Given the description of an element on the screen output the (x, y) to click on. 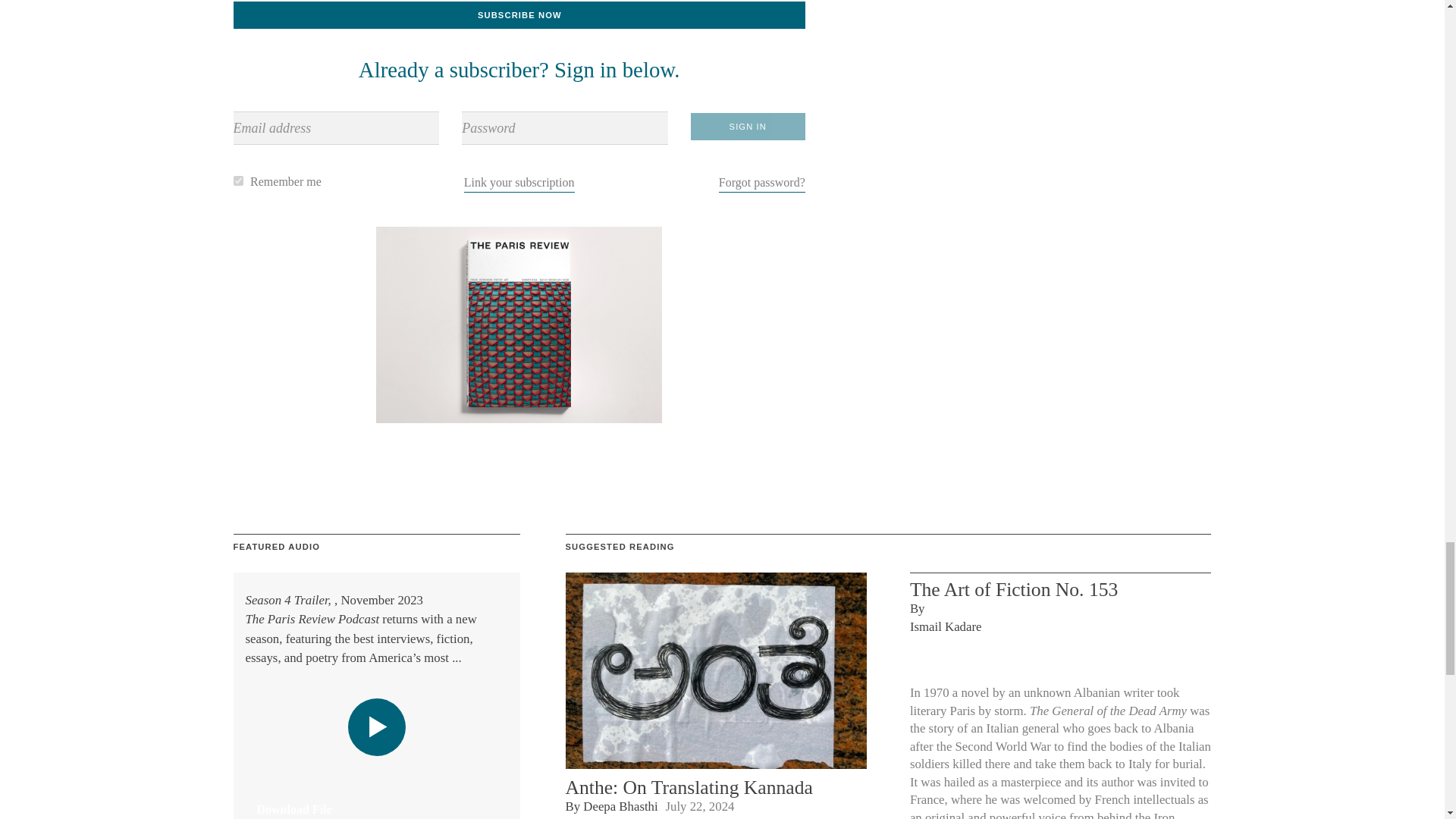
remember (237, 180)
Sign In (747, 126)
